Given the description of an element on the screen output the (x, y) to click on. 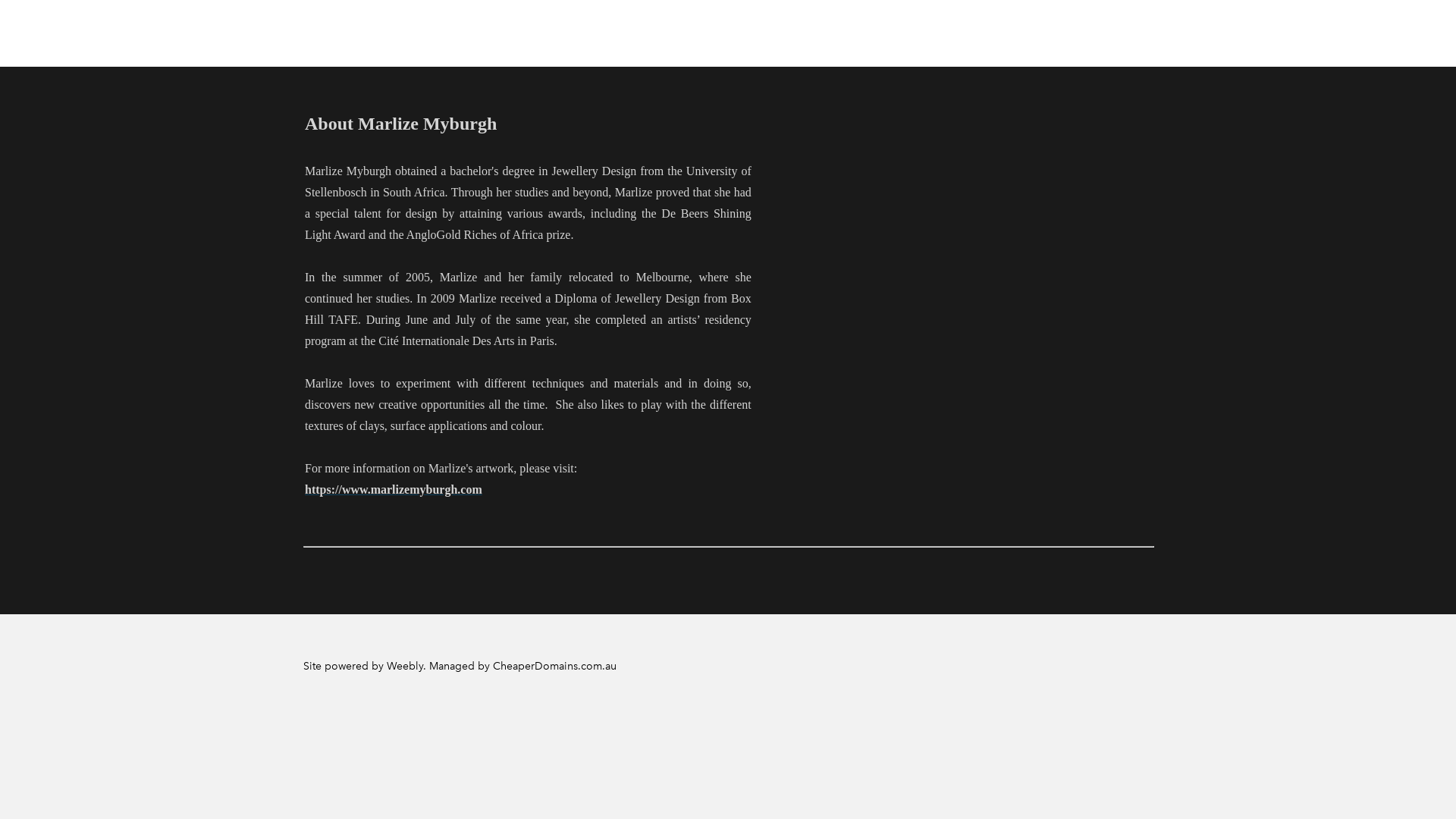
https://www.marlizemyburgh.com Element type: text (393, 489)
CheaperDomains.com.au Element type: text (554, 665)
